Given the description of an element on the screen output the (x, y) to click on. 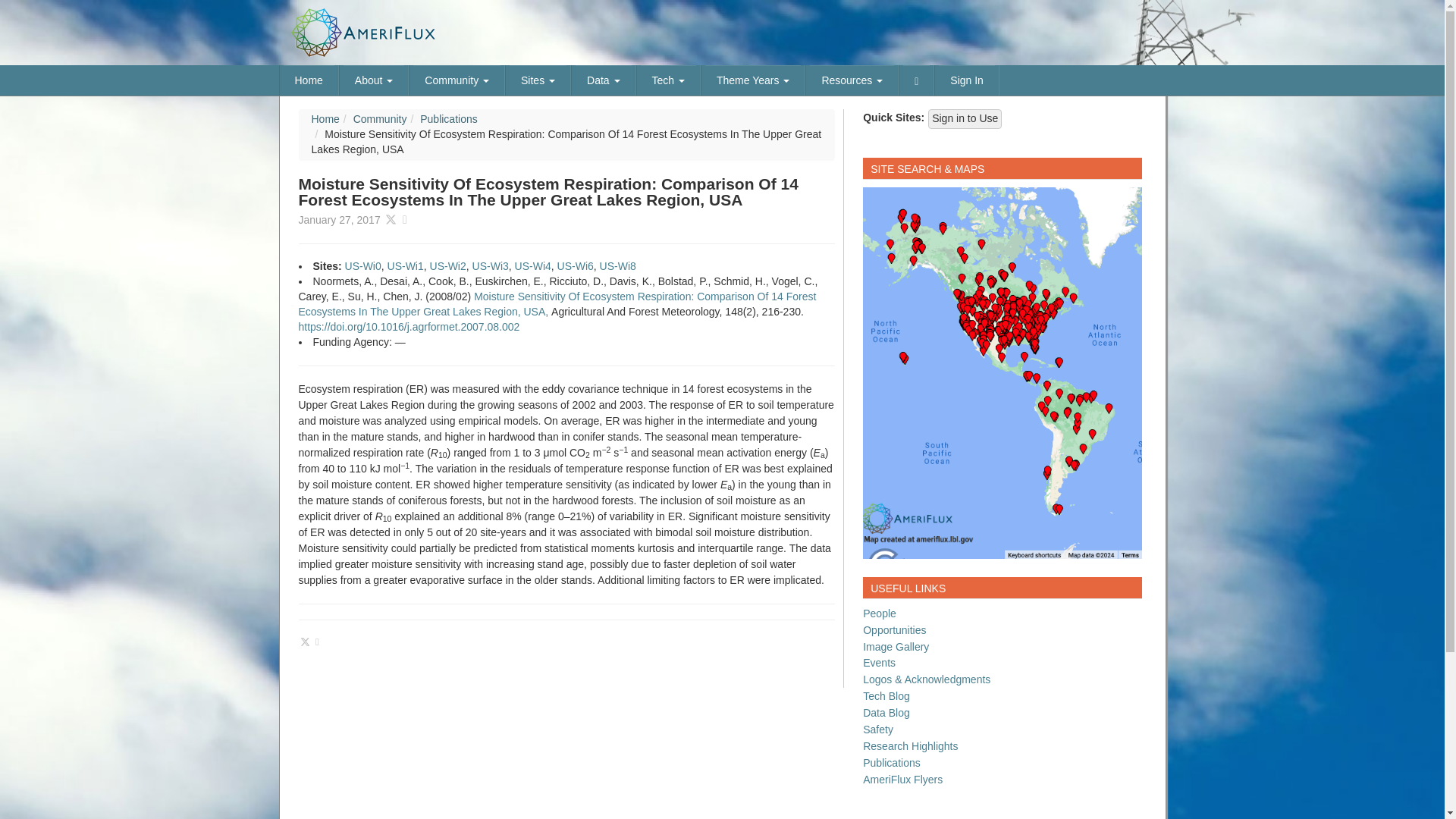
Community (456, 80)
About (373, 80)
Community (456, 80)
Home (308, 80)
Sites (537, 80)
Data (602, 80)
About (373, 80)
Home (308, 80)
